Given the description of an element on the screen output the (x, y) to click on. 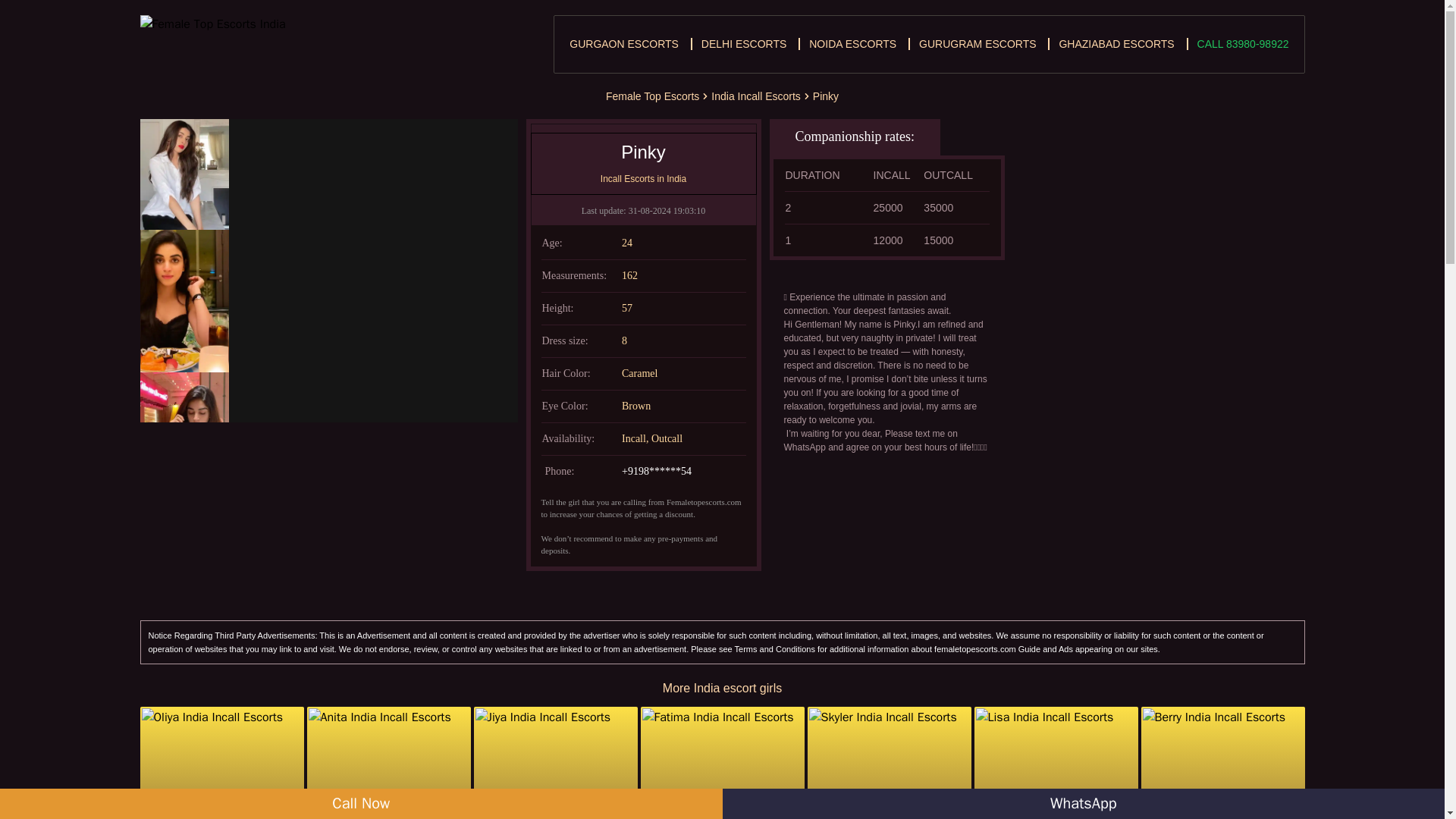
Pinky (825, 96)
GHAZIABAD ESCORTS (1115, 43)
GURGAON ESCORTS (623, 43)
DELHI ESCORTS (744, 43)
Female Top Escorts (651, 96)
NOIDA ESCORTS (852, 43)
GURUGRAM ESCORTS (977, 43)
India Incall Escorts (755, 96)
Call Now (361, 803)
CALL 83980-98922 (1242, 43)
